Given the description of an element on the screen output the (x, y) to click on. 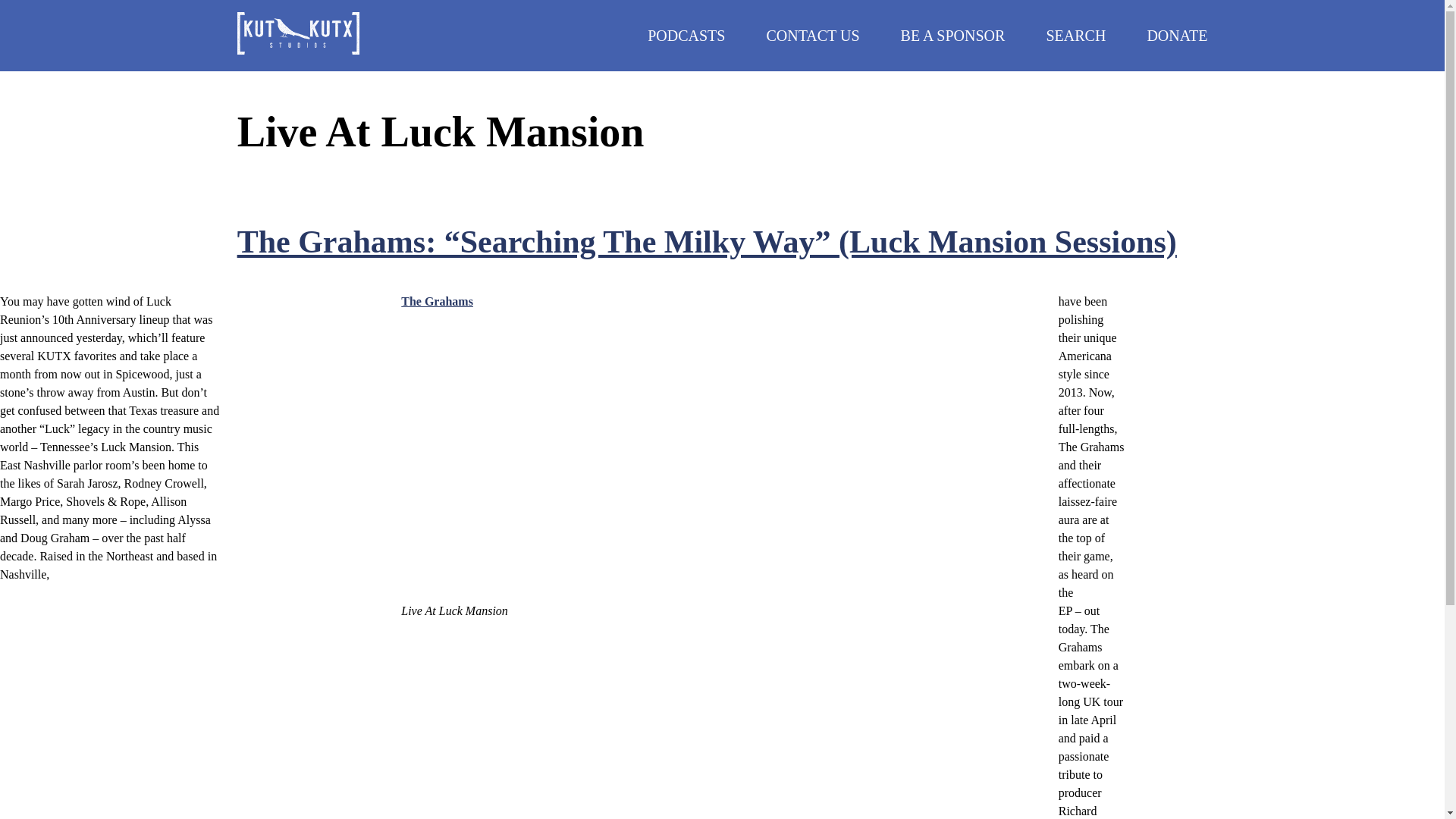
PODCASTS (686, 35)
SEARCH (1075, 35)
The Grahams (437, 300)
CONTACT US (812, 35)
BE A SPONSOR (953, 35)
DONATE (1177, 35)
